Given the description of an element on the screen output the (x, y) to click on. 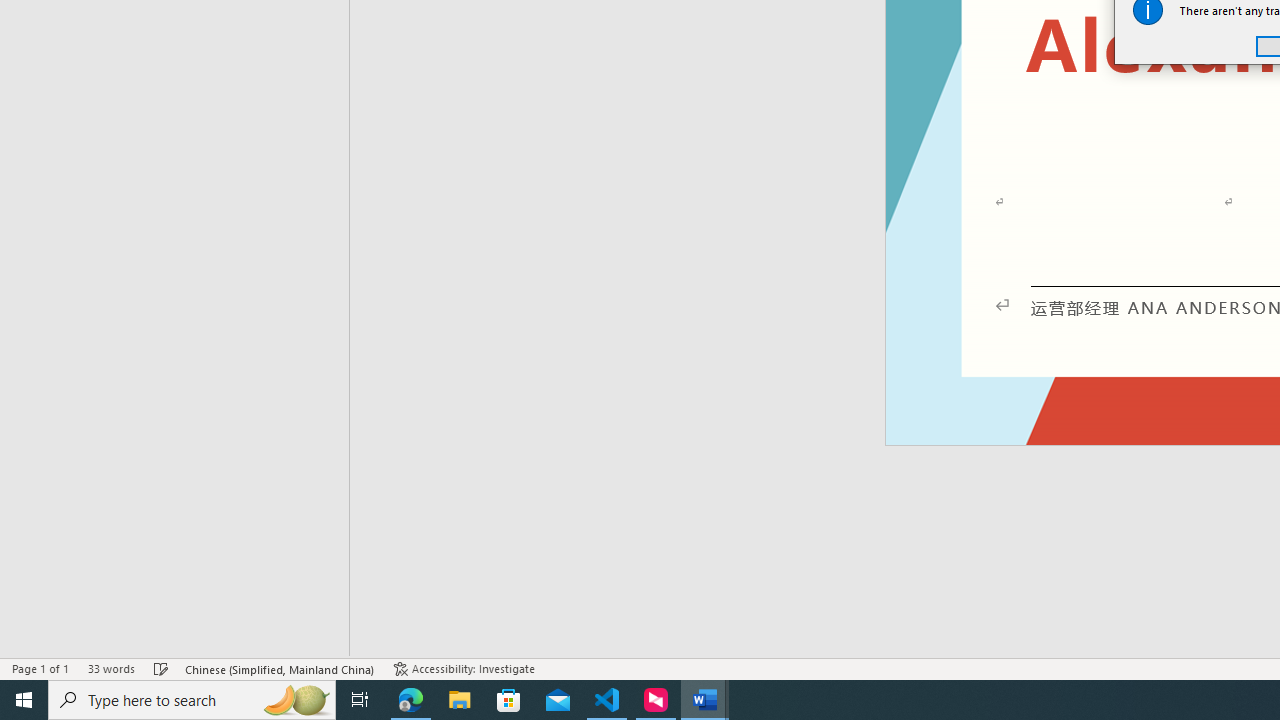
Microsoft Edge - 1 running window (411, 699)
